Given the description of an element on the screen output the (x, y) to click on. 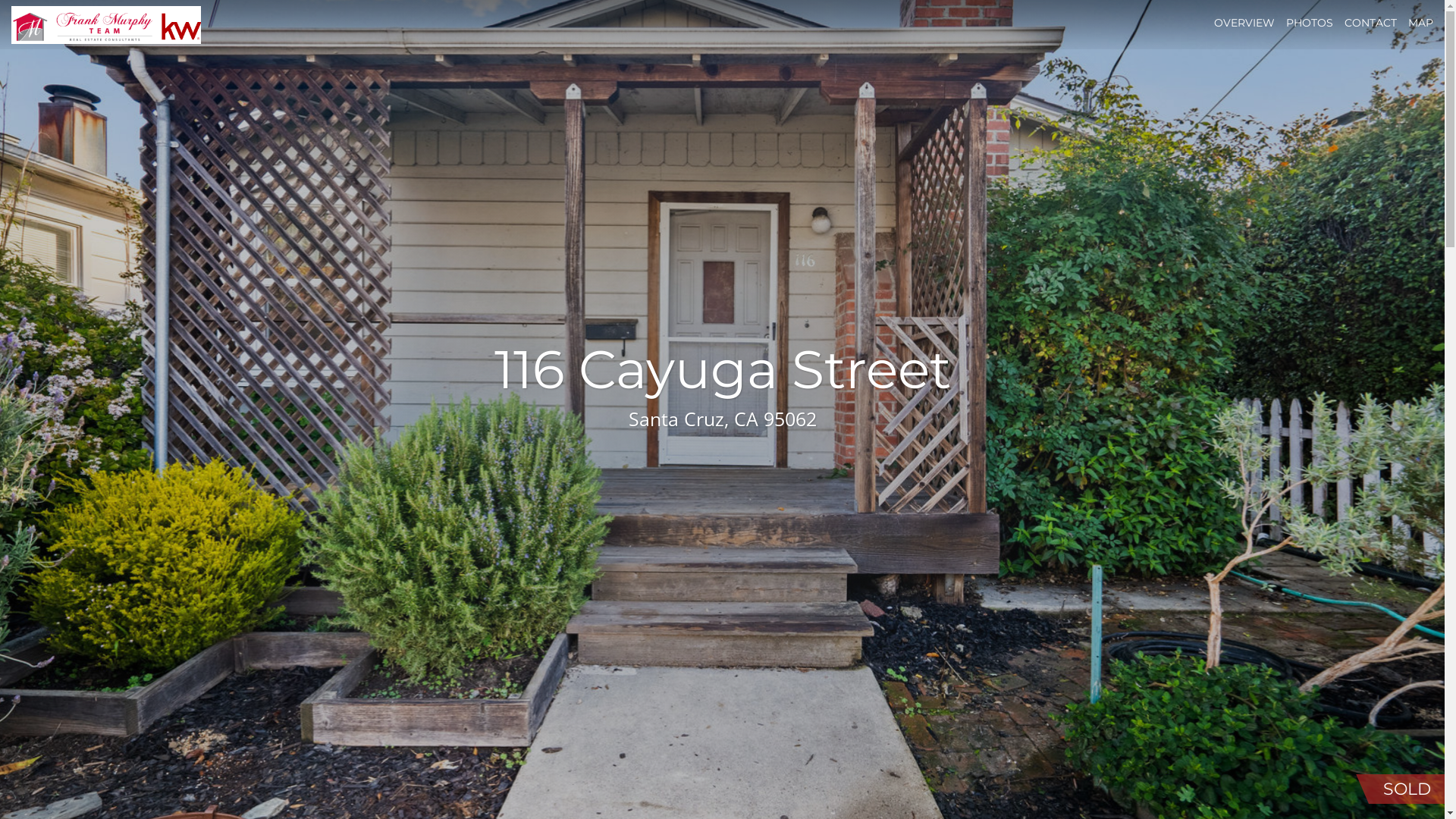
OVERVIEW Element type: text (1244, 22)
MAP Element type: text (1420, 22)
PHOTOS Element type: text (1309, 22)
CONTACT Element type: text (1370, 22)
